Given the description of an element on the screen output the (x, y) to click on. 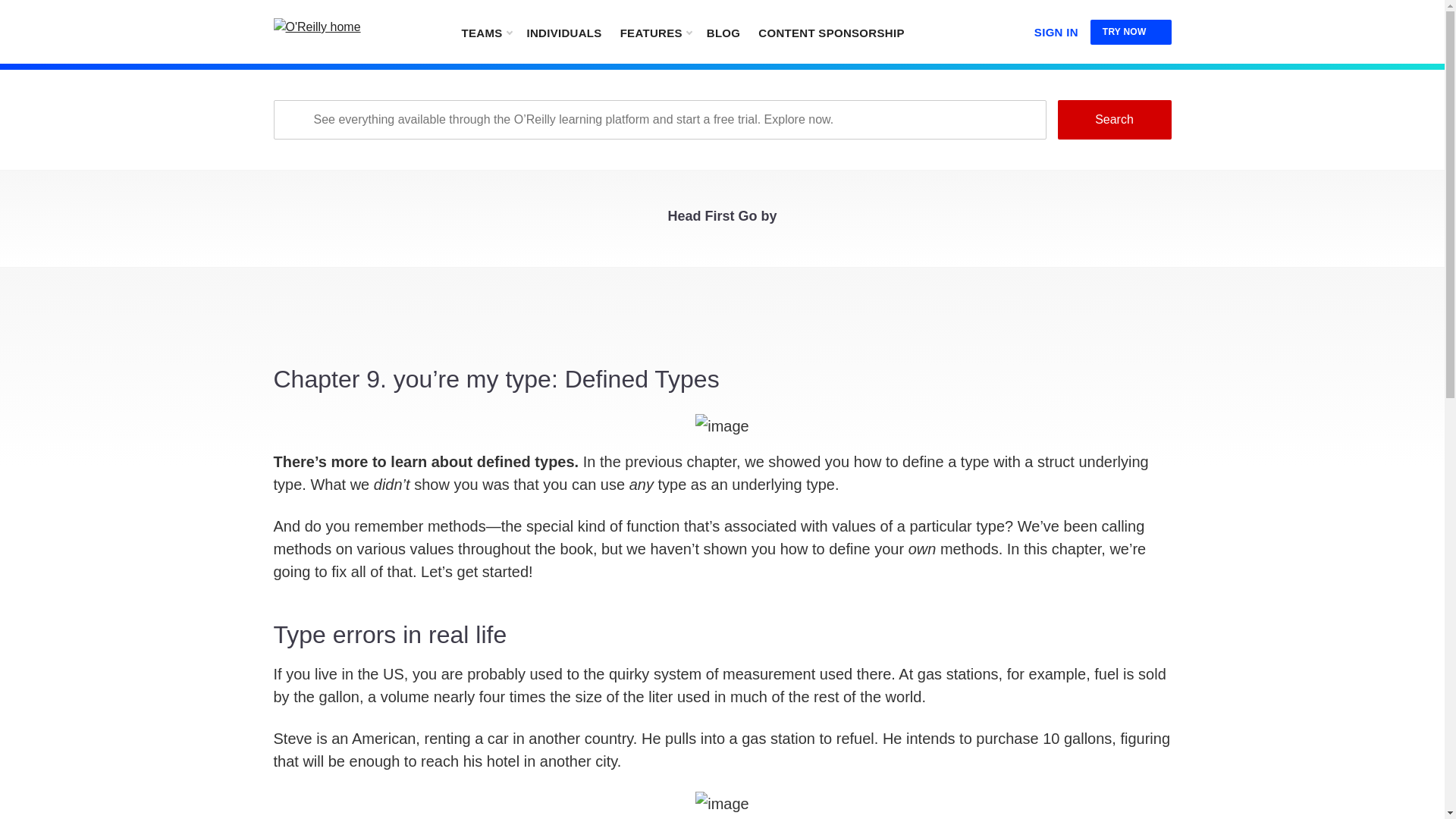
FEATURES (655, 31)
TRY NOW (1131, 32)
CONTENT SPONSORSHIP (831, 31)
Search (1113, 119)
INDIVIDUALS (563, 31)
BLOG (723, 31)
home page (348, 27)
TEAMS (486, 31)
Search (1113, 119)
Search (1113, 119)
